Given the description of an element on the screen output the (x, y) to click on. 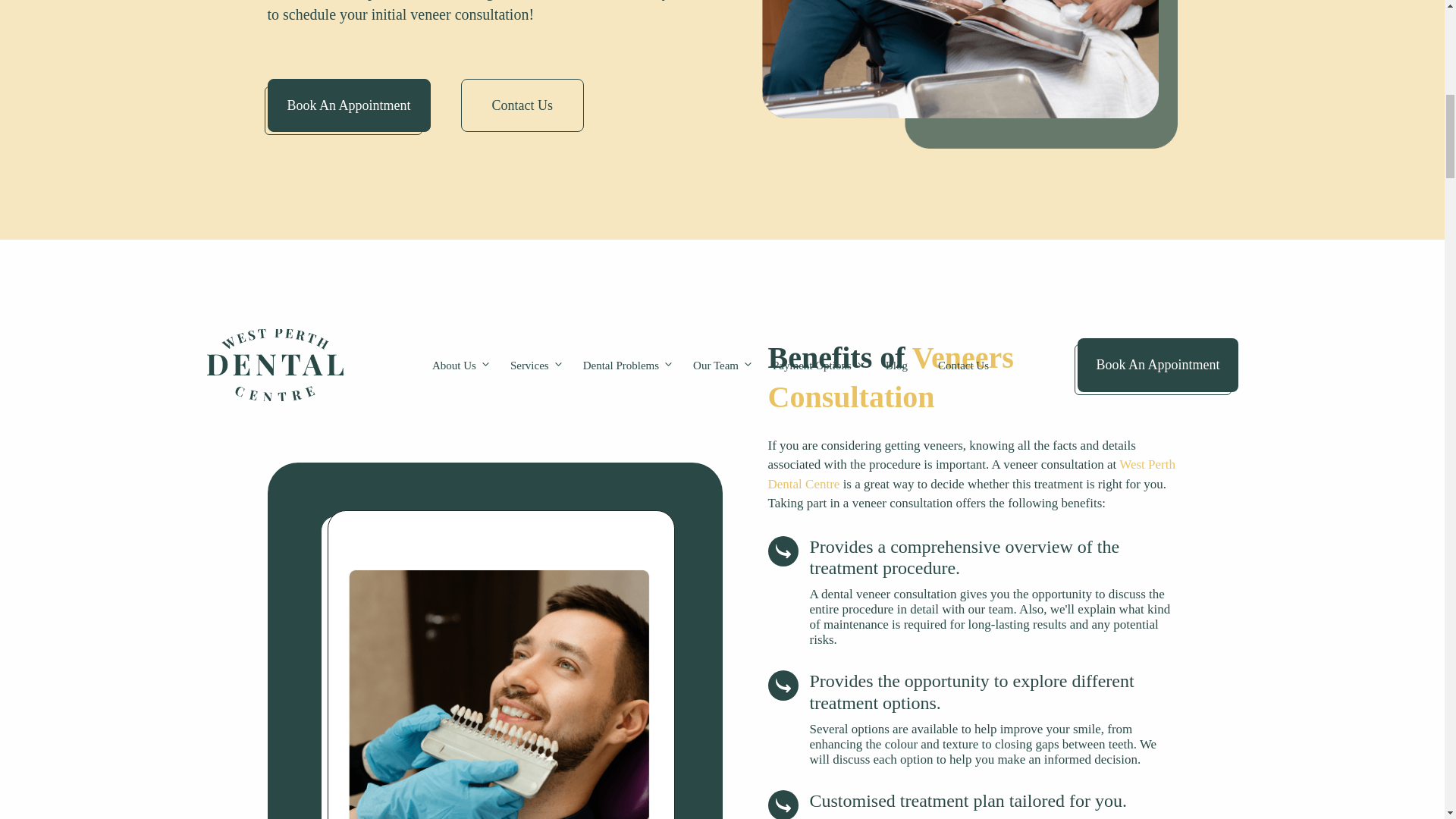
West Perth Dental Centre (970, 474)
